Given the description of an element on the screen output the (x, y) to click on. 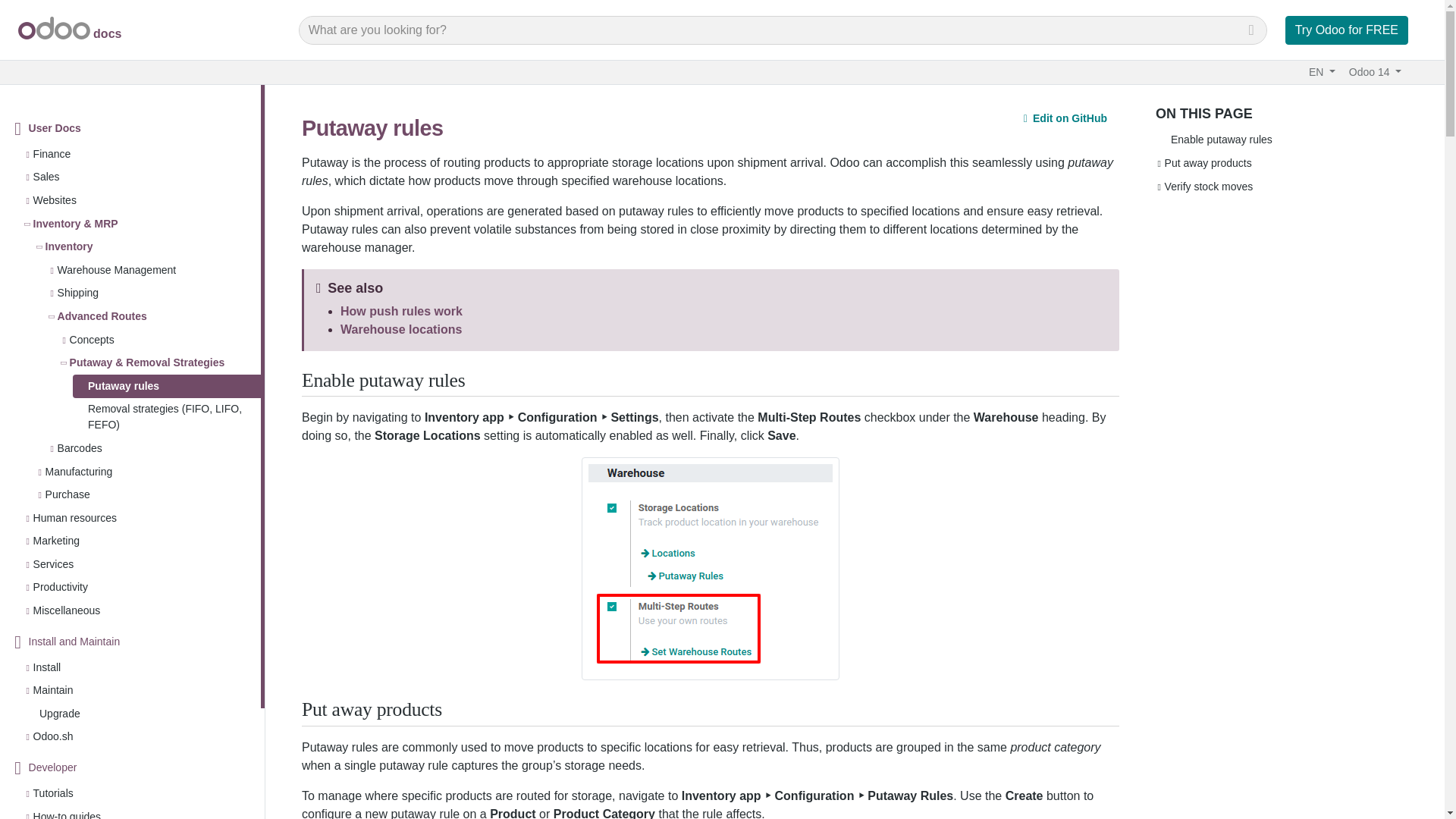
Finance (51, 154)
User Docs (54, 128)
